Given the description of an element on the screen output the (x, y) to click on. 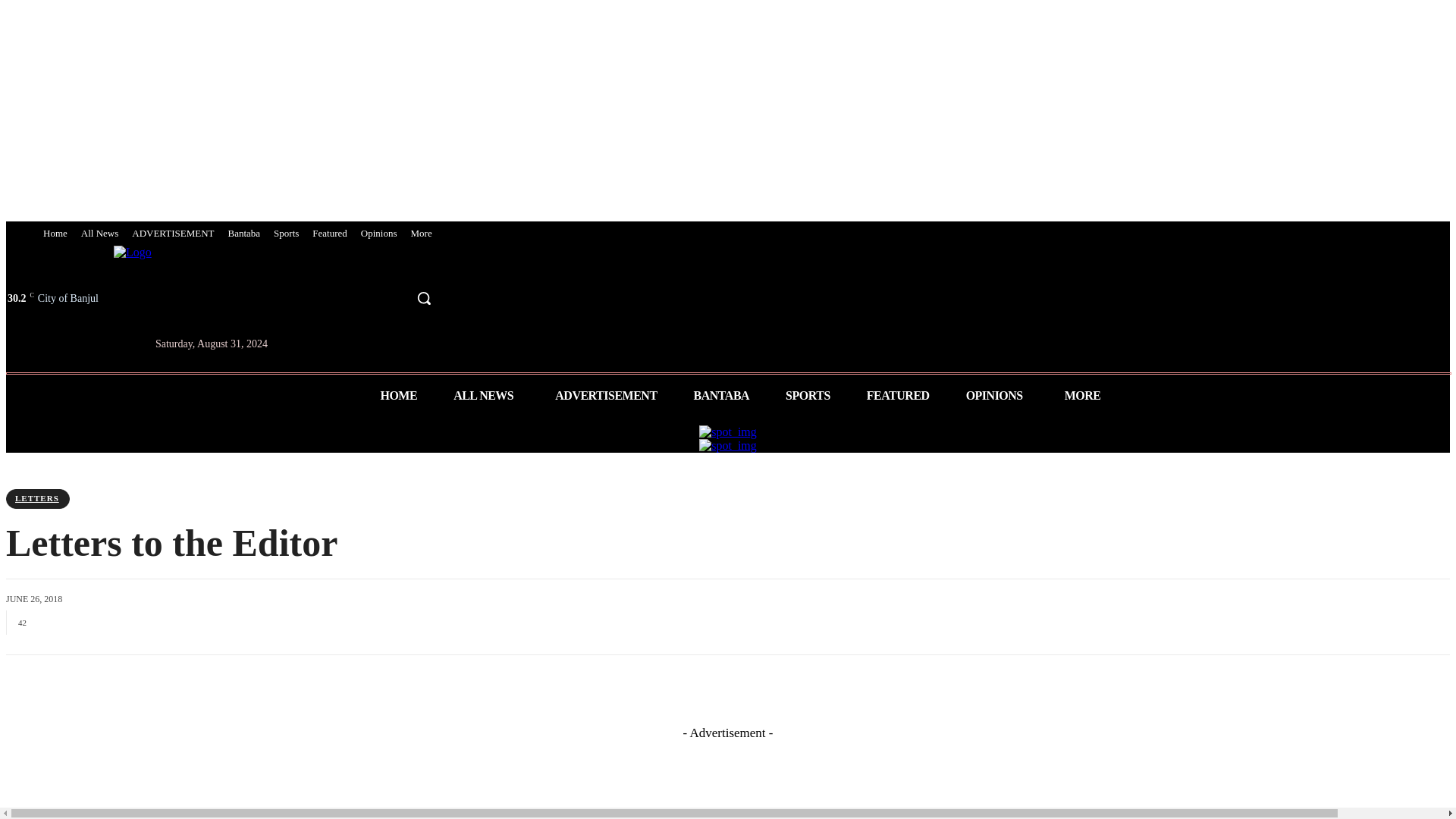
ALL NEWS (486, 395)
Home (55, 233)
Opinions (378, 233)
Featured (329, 233)
Youtube (390, 298)
Facebook (334, 298)
More (420, 233)
Bantaba (244, 233)
All News (99, 233)
ADVERTISEMENT (173, 233)
